Given the description of an element on the screen output the (x, y) to click on. 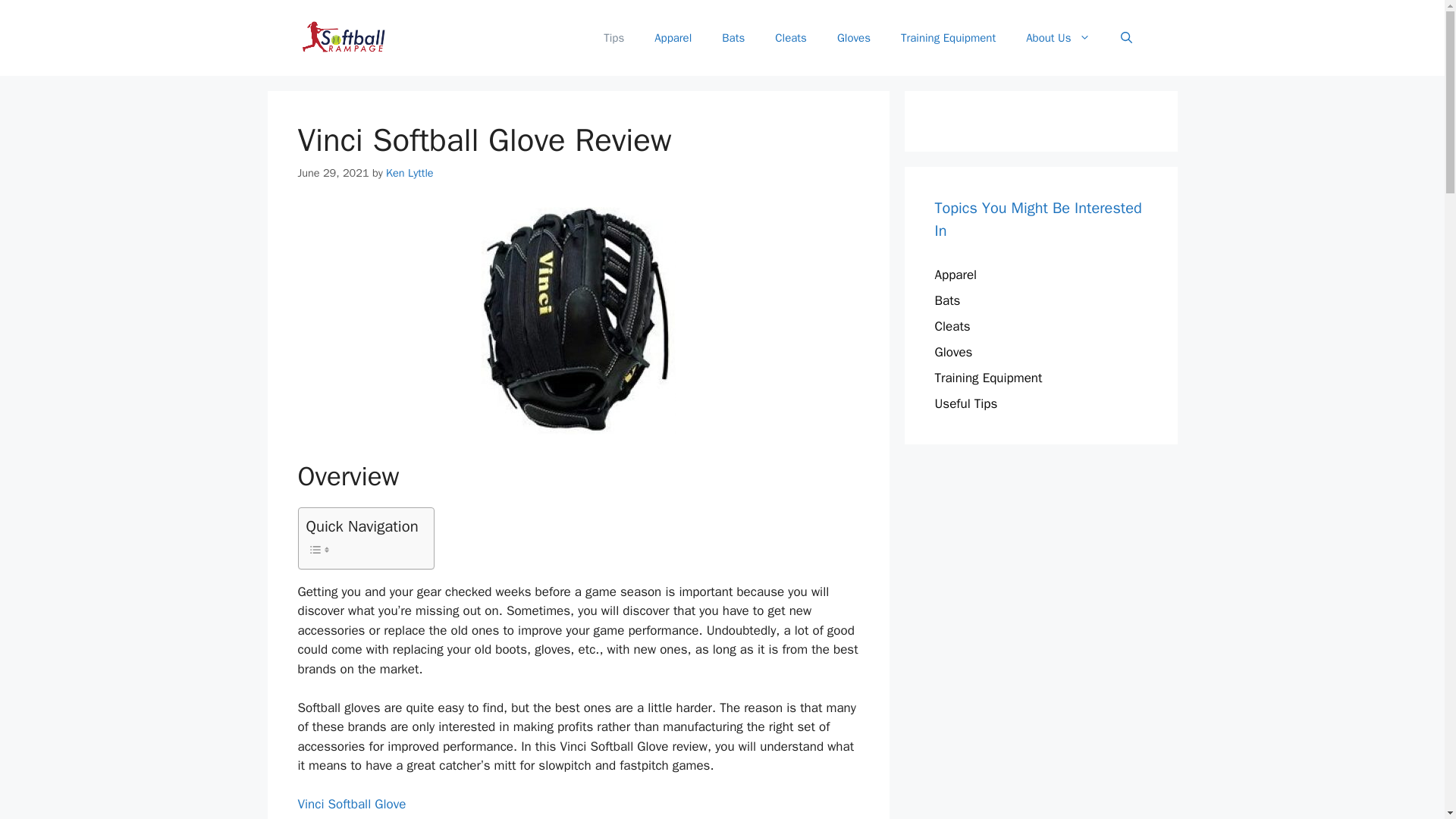
Ken Lyttle (409, 172)
Training Equipment (947, 37)
Cleats (791, 37)
About Us (1057, 37)
Bats (733, 37)
Apparel (955, 274)
View all posts by Ken Lyttle (409, 172)
Tips (613, 37)
Bats (946, 300)
Cleats (951, 326)
